Given the description of an element on the screen output the (x, y) to click on. 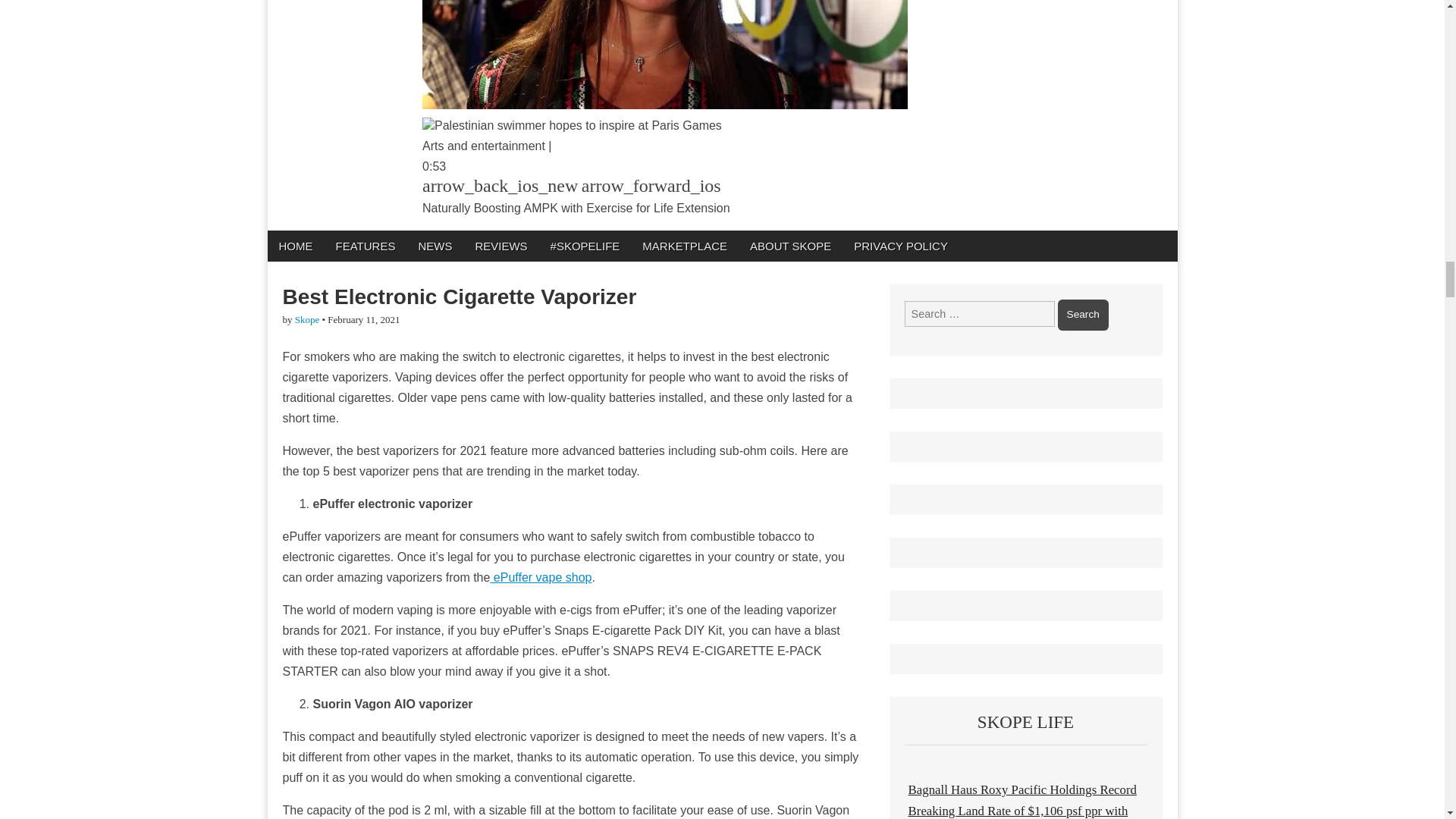
Search (1083, 314)
ePuffer vape shop (540, 576)
Posts by Skope (307, 319)
Search (1083, 314)
NEWS (434, 245)
REVIEWS (500, 245)
Skope (307, 319)
FEATURES (365, 245)
Search (1083, 314)
MARKETPLACE (684, 245)
PRIVACY POLICY (901, 245)
HOME (294, 245)
ABOUT SKOPE (790, 245)
